Given the description of an element on the screen output the (x, y) to click on. 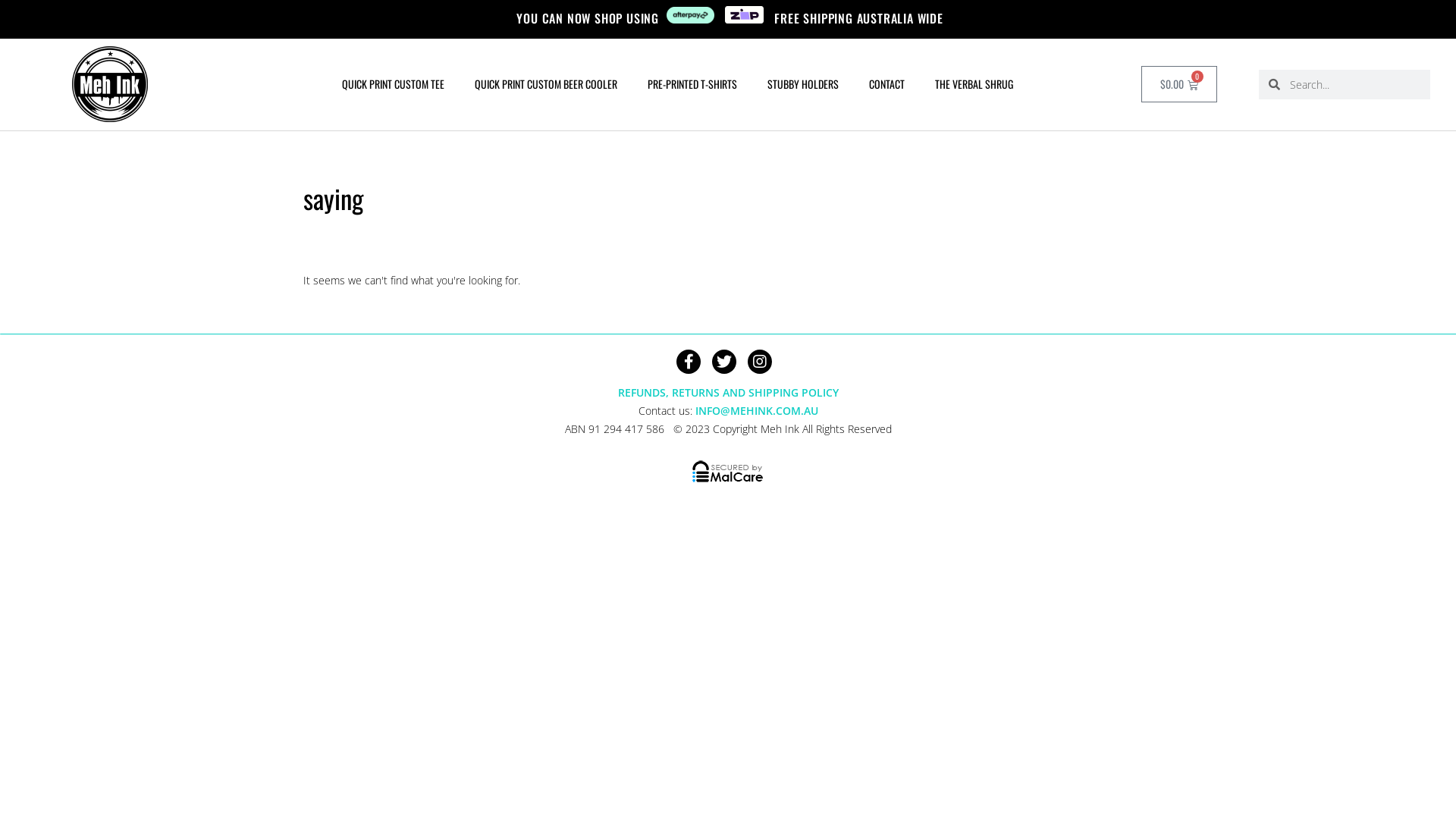
QUICK PRINT CUSTOM TEE Element type: text (392, 83)
REFUNDS, RETURNS AND SHIPPING POLICY Element type: text (727, 392)
QUICK PRINT CUSTOM BEER COOLER Element type: text (545, 83)
mehink-logo-med-2 Element type: hover (109, 84)
INFO@MEHINK.COM.AU Element type: text (755, 410)
CONTACT Element type: text (886, 83)
STUBBY HOLDERS Element type: text (802, 83)
THE VERBAL SHRUG Element type: text (973, 83)
$0.00
0 Element type: text (1178, 83)
PRE-PRINTED T-SHIRTS Element type: text (692, 83)
